Given the description of an element on the screen output the (x, y) to click on. 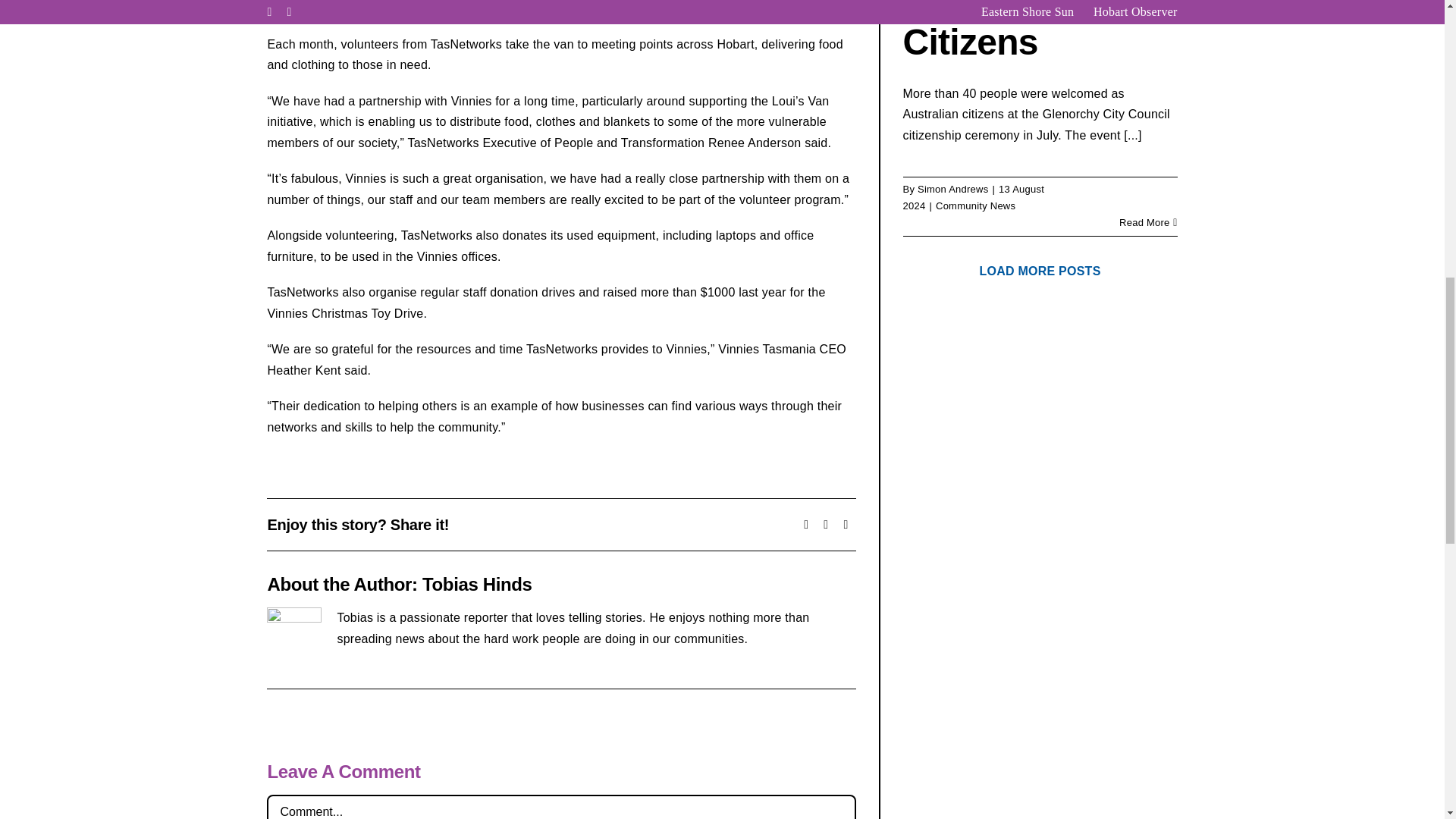
Page 10 (561, 331)
Tobias Hinds (477, 584)
Page 10 (561, 359)
